Given the description of an element on the screen output the (x, y) to click on. 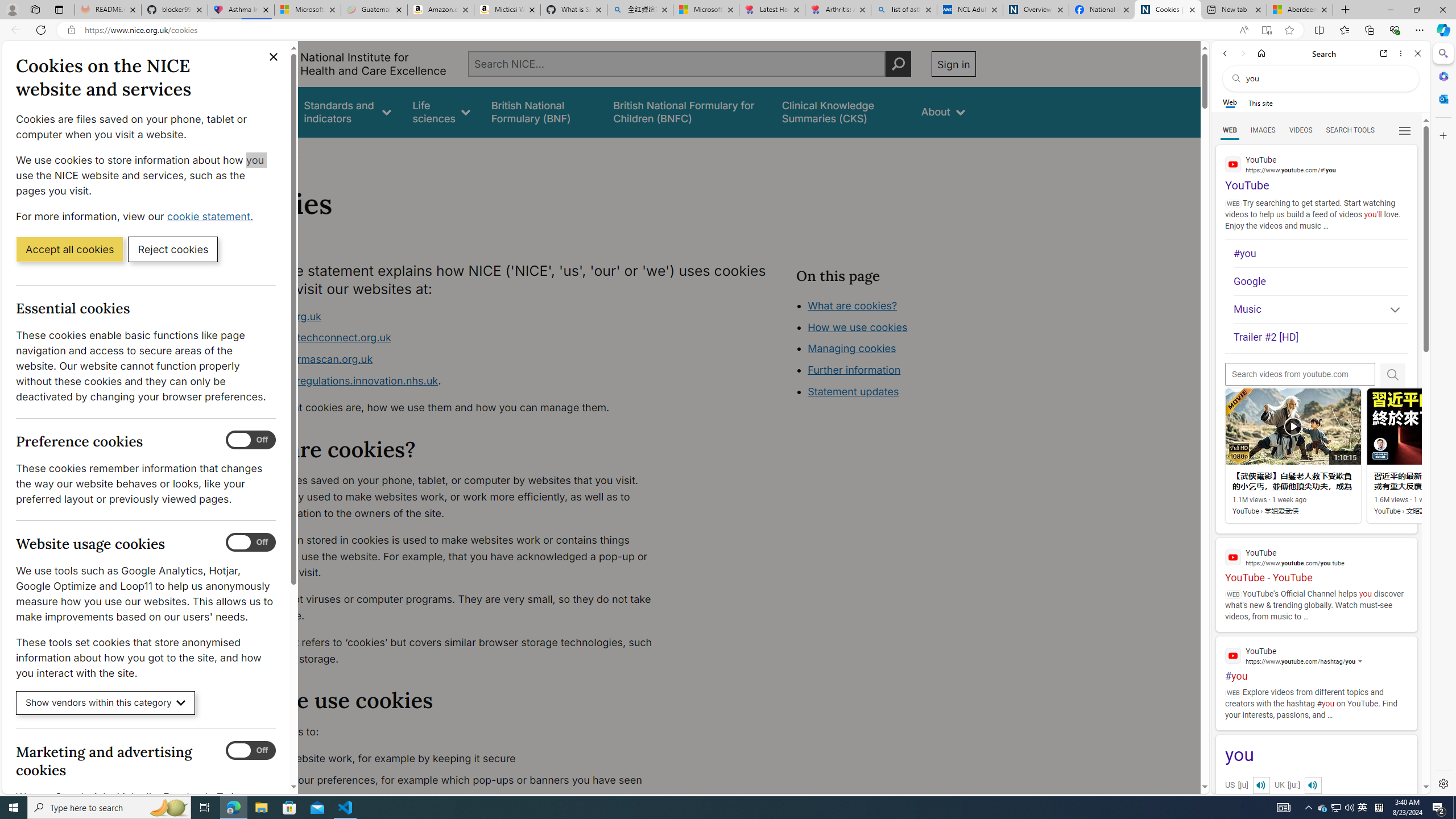
Marketing and advertising cookies (250, 750)
Accept all cookies (69, 248)
US[ju] (1249, 785)
Trailer #2 [HD] (1320, 337)
Statement updates (853, 391)
YouTube (1315, 655)
you (1315, 755)
Search Filter, VIDEOS (1300, 129)
www.ukpharmascan.org.uk (452, 359)
www.digitalregulations.innovation.nhs.uk. (452, 380)
